Given the description of an element on the screen output the (x, y) to click on. 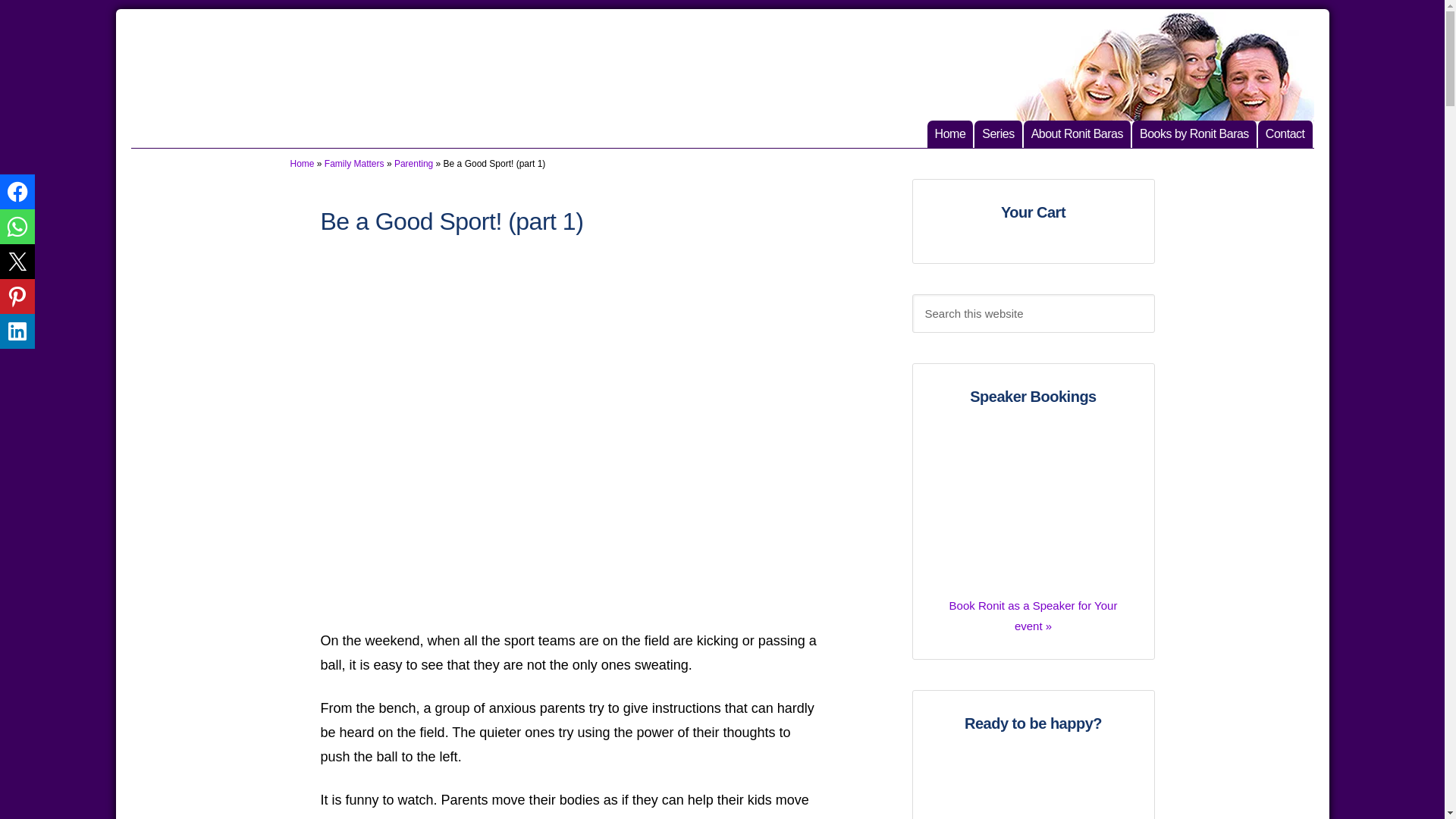
About Ronit Baras (1077, 134)
Family Matters (354, 163)
Home (951, 134)
Parenting (413, 163)
Book Ronit as a Speaker for Your event (1285, 134)
Series (998, 134)
Books by Ronit Baras (1194, 134)
Contact (1285, 134)
